Given the description of an element on the screen output the (x, y) to click on. 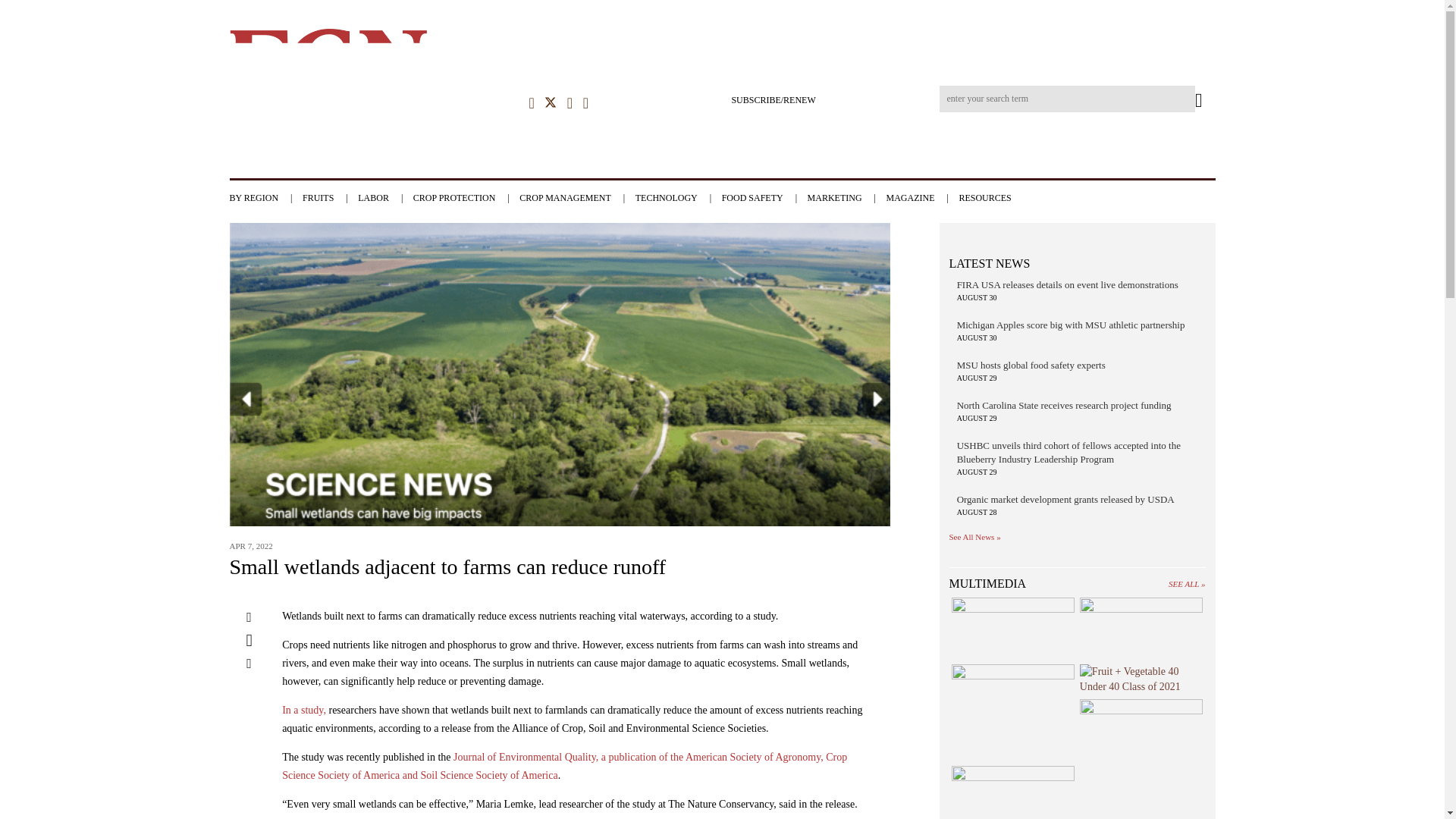
FRUITS (328, 197)
LABOR (384, 197)
CROP MANAGEMENT (575, 197)
CROP PROTECTION (464, 197)
TECHNOLOGY (676, 197)
BY REGION (263, 197)
